Given the description of an element on the screen output the (x, y) to click on. 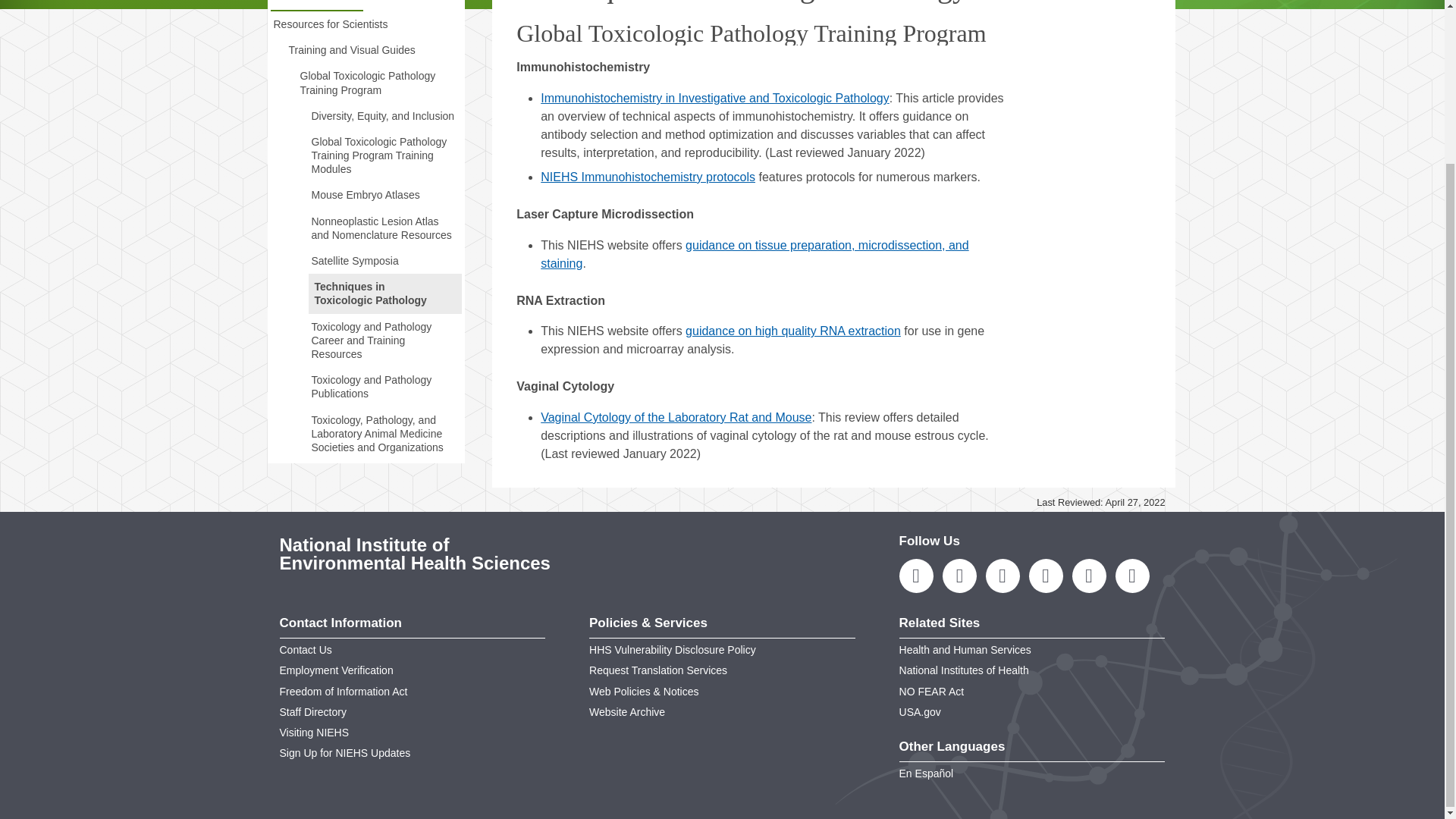
Extraction of High Quality RNA (793, 330)
Laser Microdissection (754, 254)
Immunohistochemistry Protocols (647, 176)
